Given the description of an element on the screen output the (x, y) to click on. 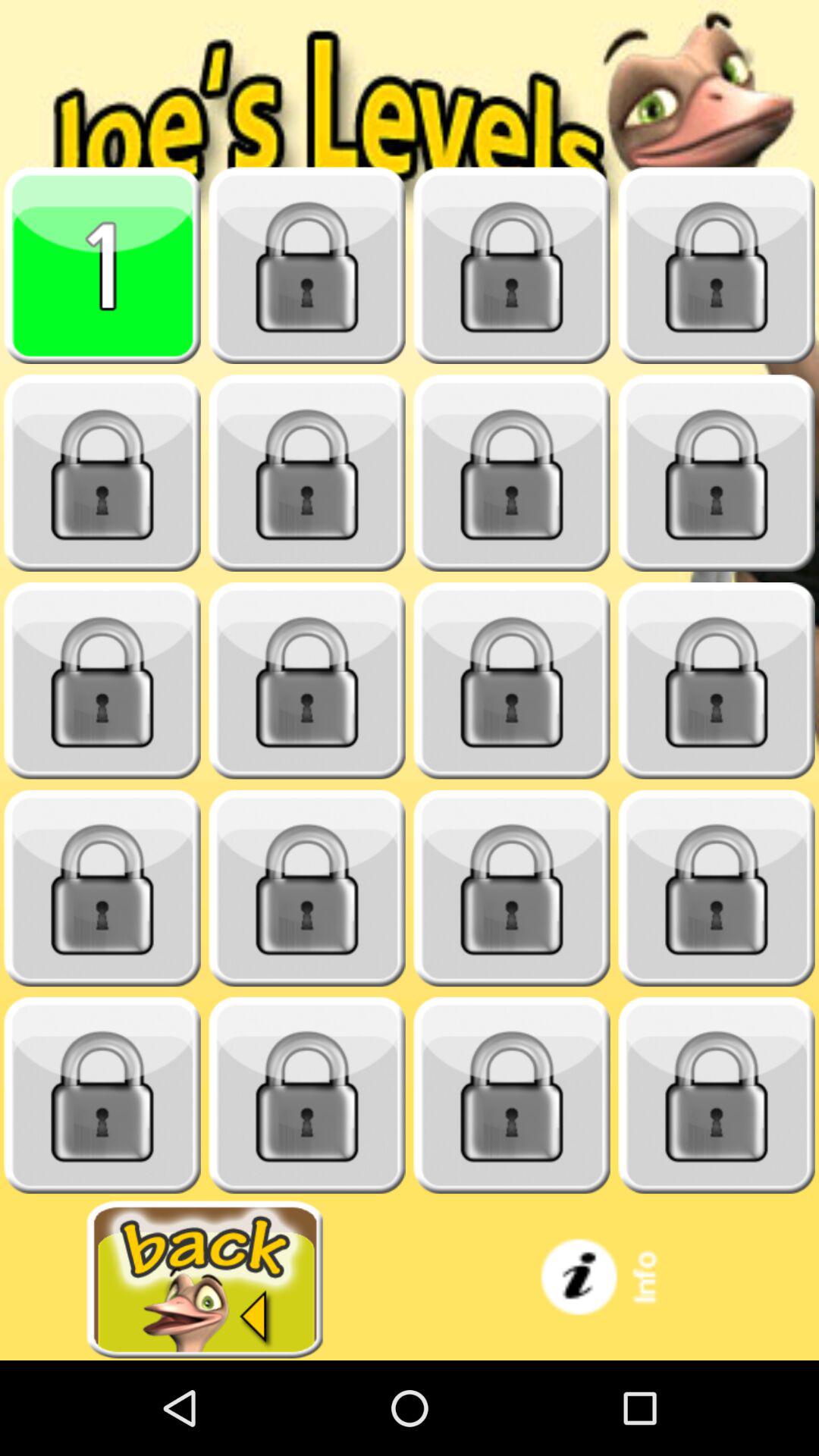
back button (204, 1279)
